Given the description of an element on the screen output the (x, y) to click on. 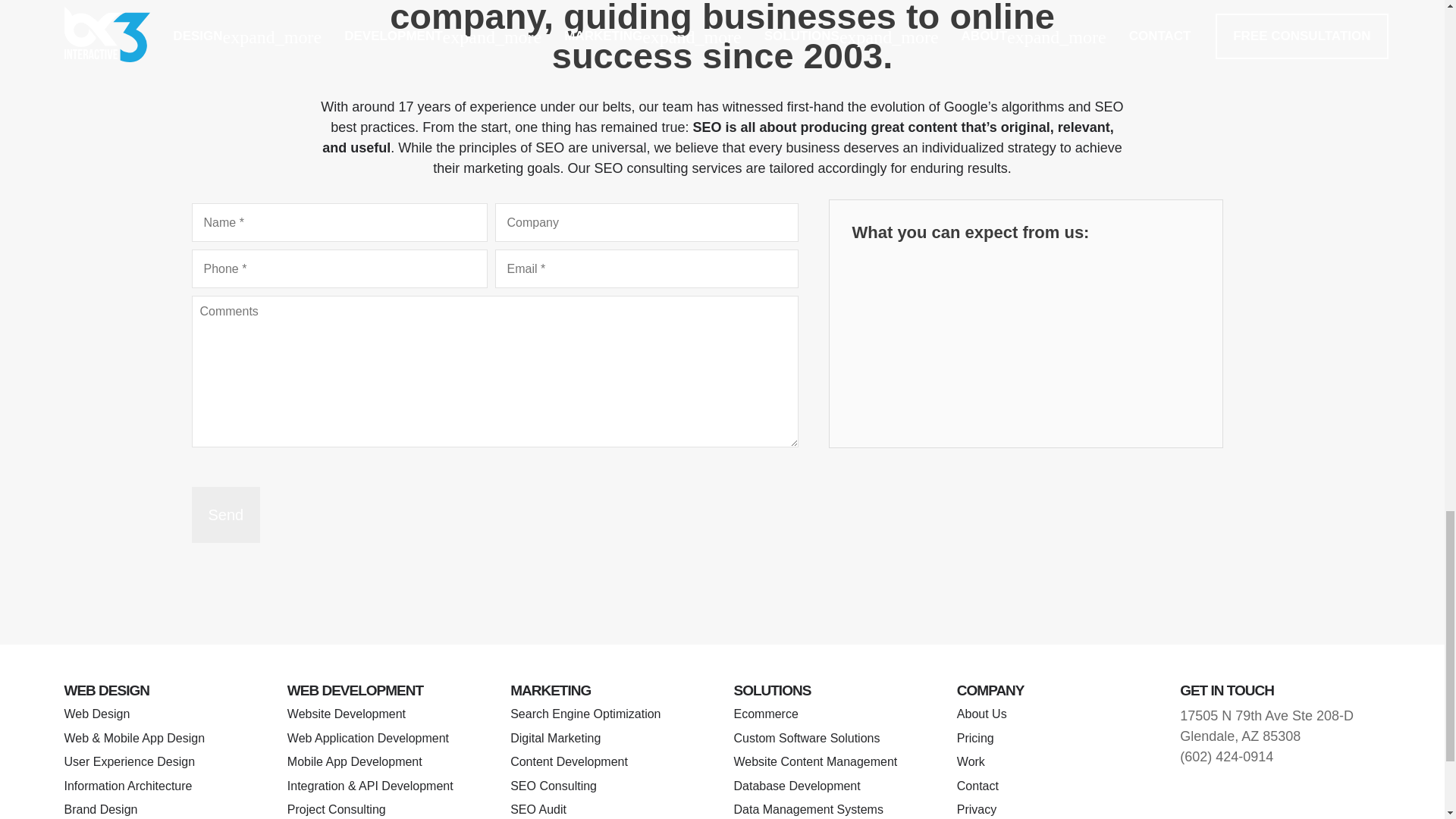
Send (225, 514)
Send (225, 514)
Web Design (96, 713)
